Given the description of an element on the screen output the (x, y) to click on. 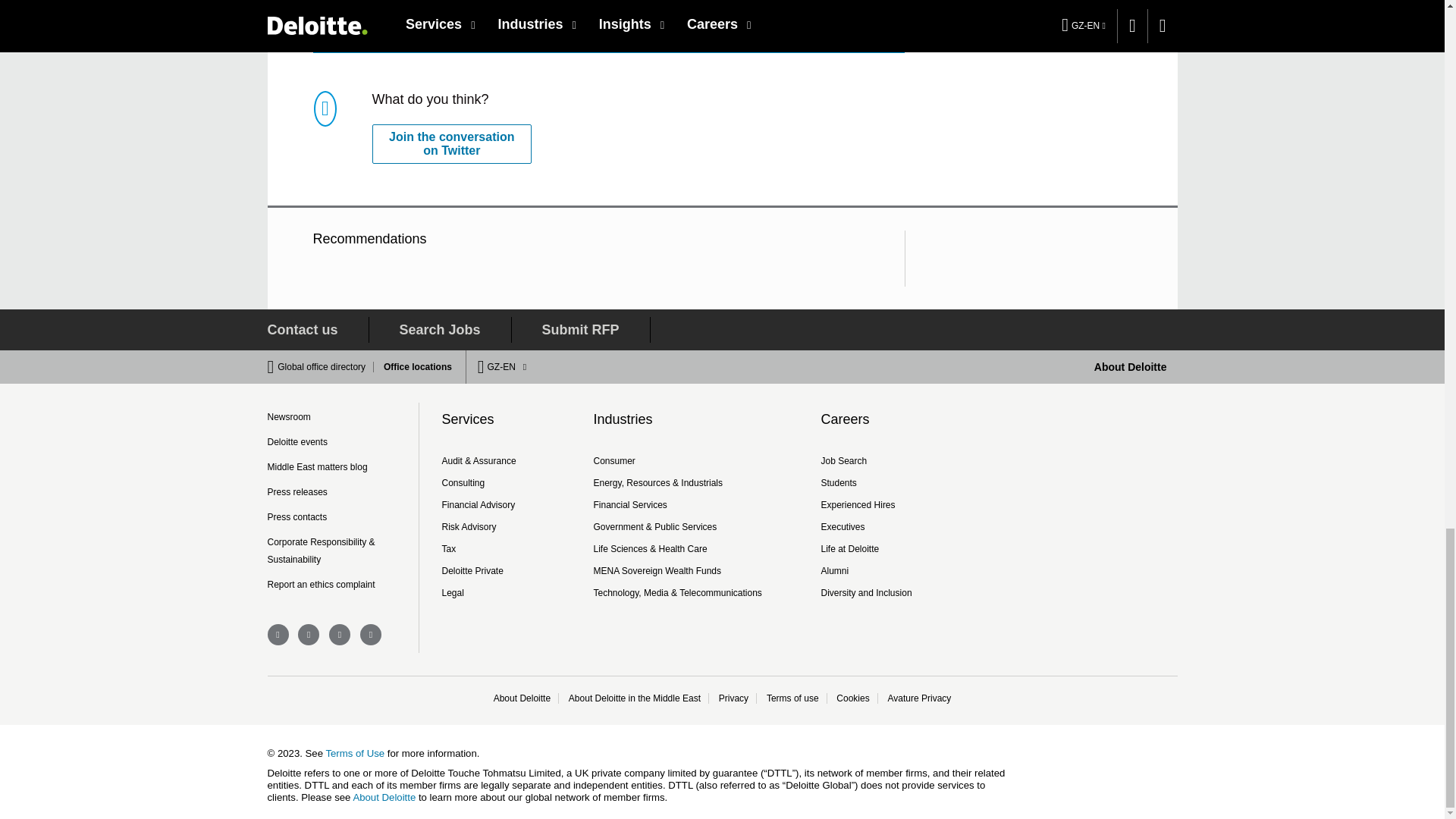
Office locations (413, 366)
facebook (277, 634)
youtube (370, 634)
linkedin (339, 634)
twitter (308, 634)
About Deloitte (1130, 367)
Global office directory (326, 366)
